Given the description of an element on the screen output the (x, y) to click on. 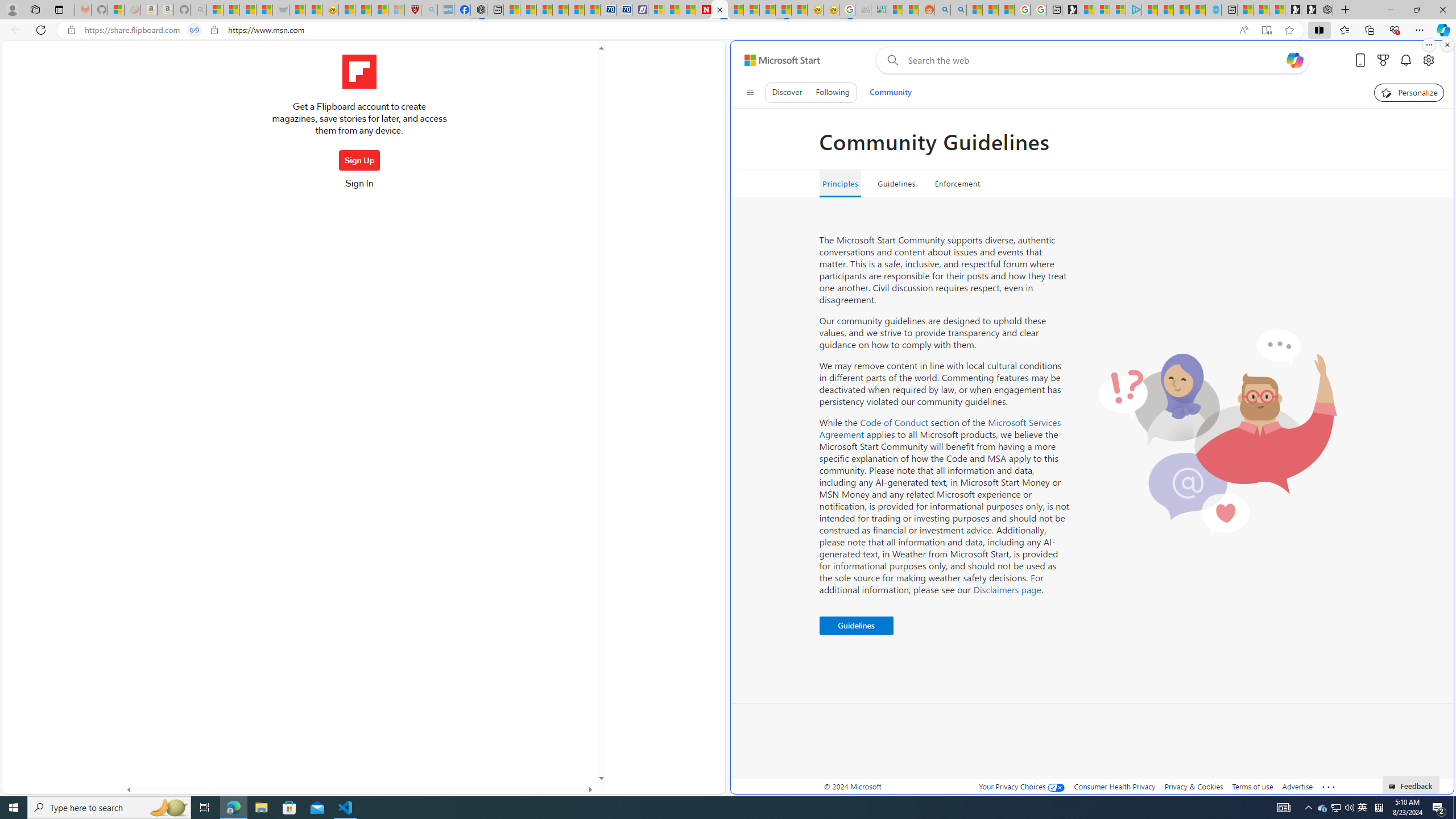
Advertise (1297, 785)
Guidelines  (855, 625)
Recipes - MSN (346, 9)
Cheap Hotels - Save70.com (624, 9)
Microsoft account | Privacy (1118, 9)
Open settings (1427, 60)
Personalize your feed" (1409, 92)
